Given the description of an element on the screen output the (x, y) to click on. 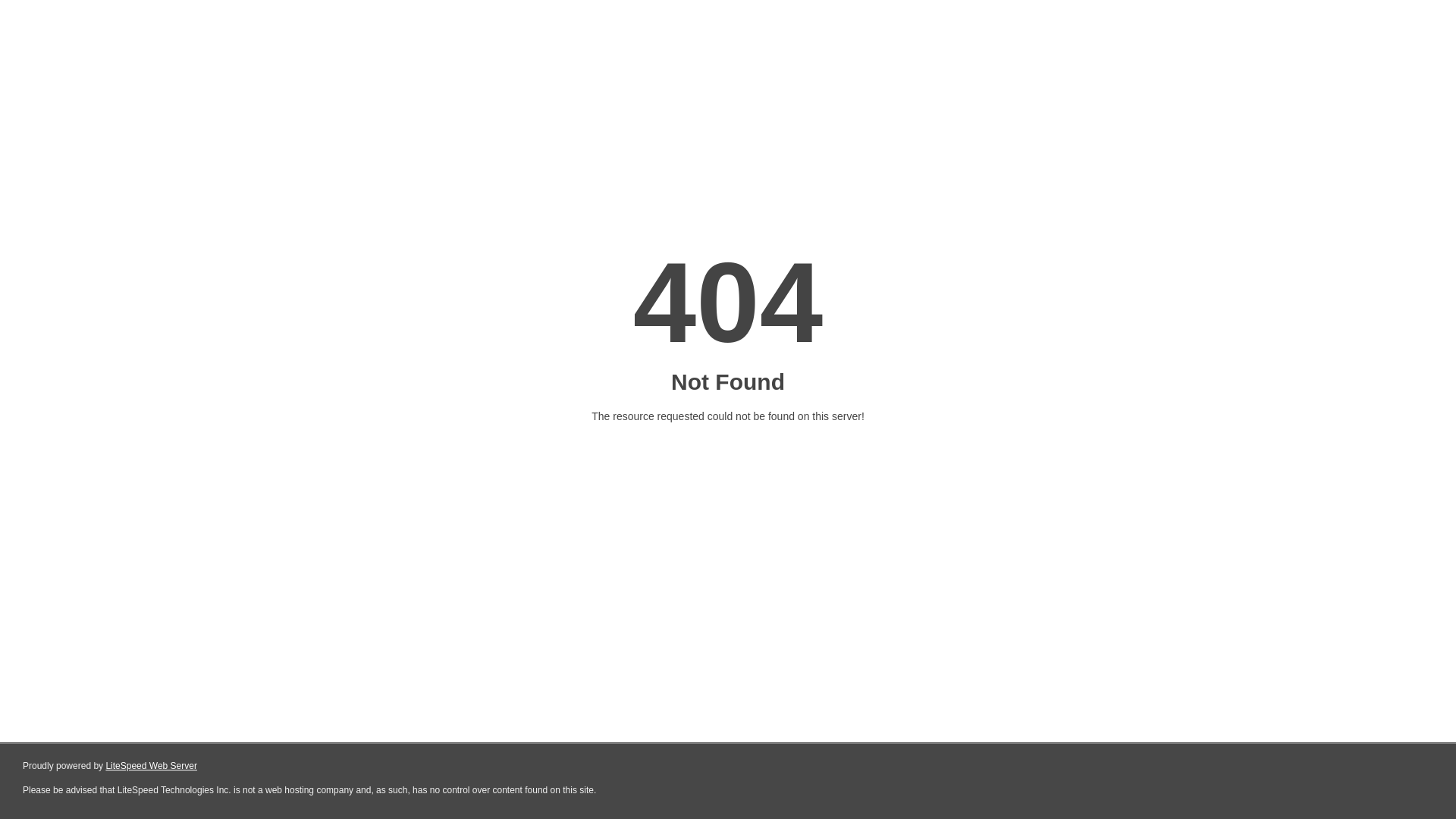
LiteSpeed Web Server Element type: text (151, 765)
